Given the description of an element on the screen output the (x, y) to click on. 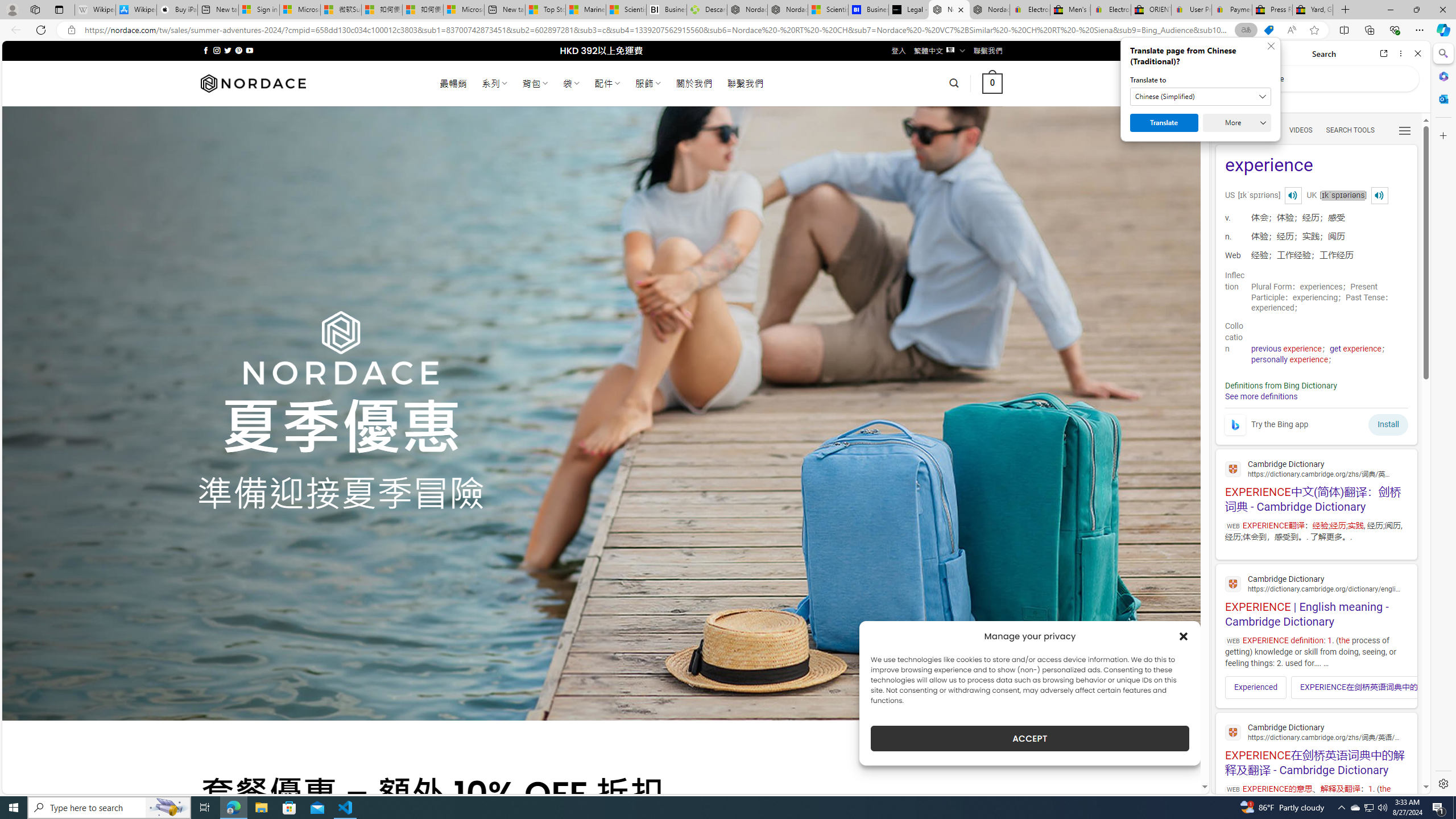
Sign in to your Microsoft account (258, 9)
ACCEPT (1029, 738)
This site scope (1259, 102)
Press Room - eBay Inc. (1272, 9)
